Given the description of an element on the screen output the (x, y) to click on. 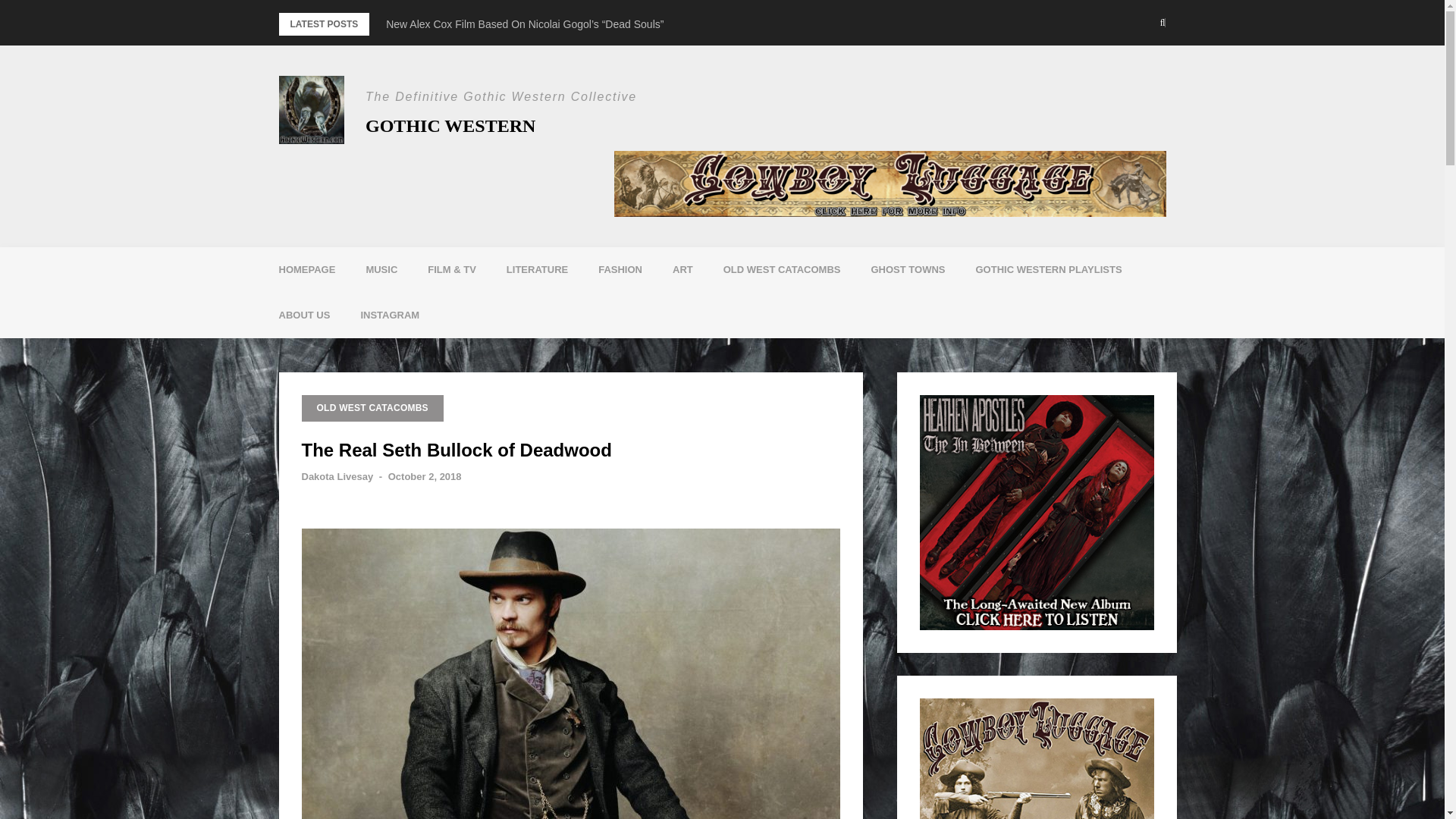
GOTHIC WESTERN (450, 125)
Literature (537, 269)
Fashion (620, 269)
GHOST TOWNS (907, 269)
FASHION (620, 269)
HOMEPAGE (306, 269)
MUSIC (381, 269)
Art (682, 269)
ART (682, 269)
Homepage (306, 269)
LITERATURE (537, 269)
INSTAGRAM (389, 315)
ABOUT US (304, 315)
OLD WEST CATACOMBS (781, 269)
GOTHIC WESTERN PLAYLISTS (1048, 269)
